Given the description of an element on the screen output the (x, y) to click on. 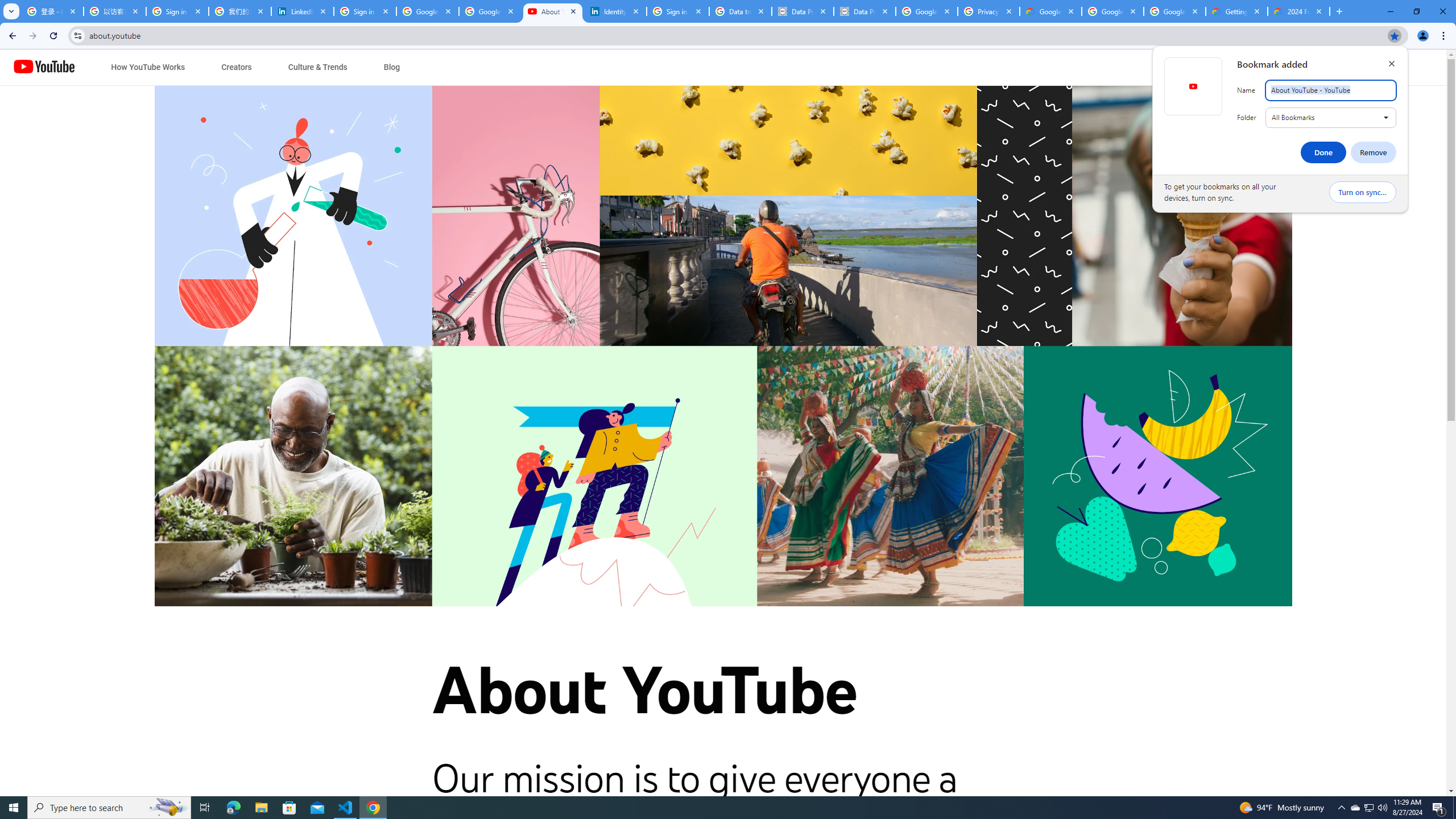
Jump to content (105, 67)
Google Cloud Terms Directory | Google Cloud (1050, 11)
Creators (236, 67)
Folder (1330, 117)
